Given the description of an element on the screen output the (x, y) to click on. 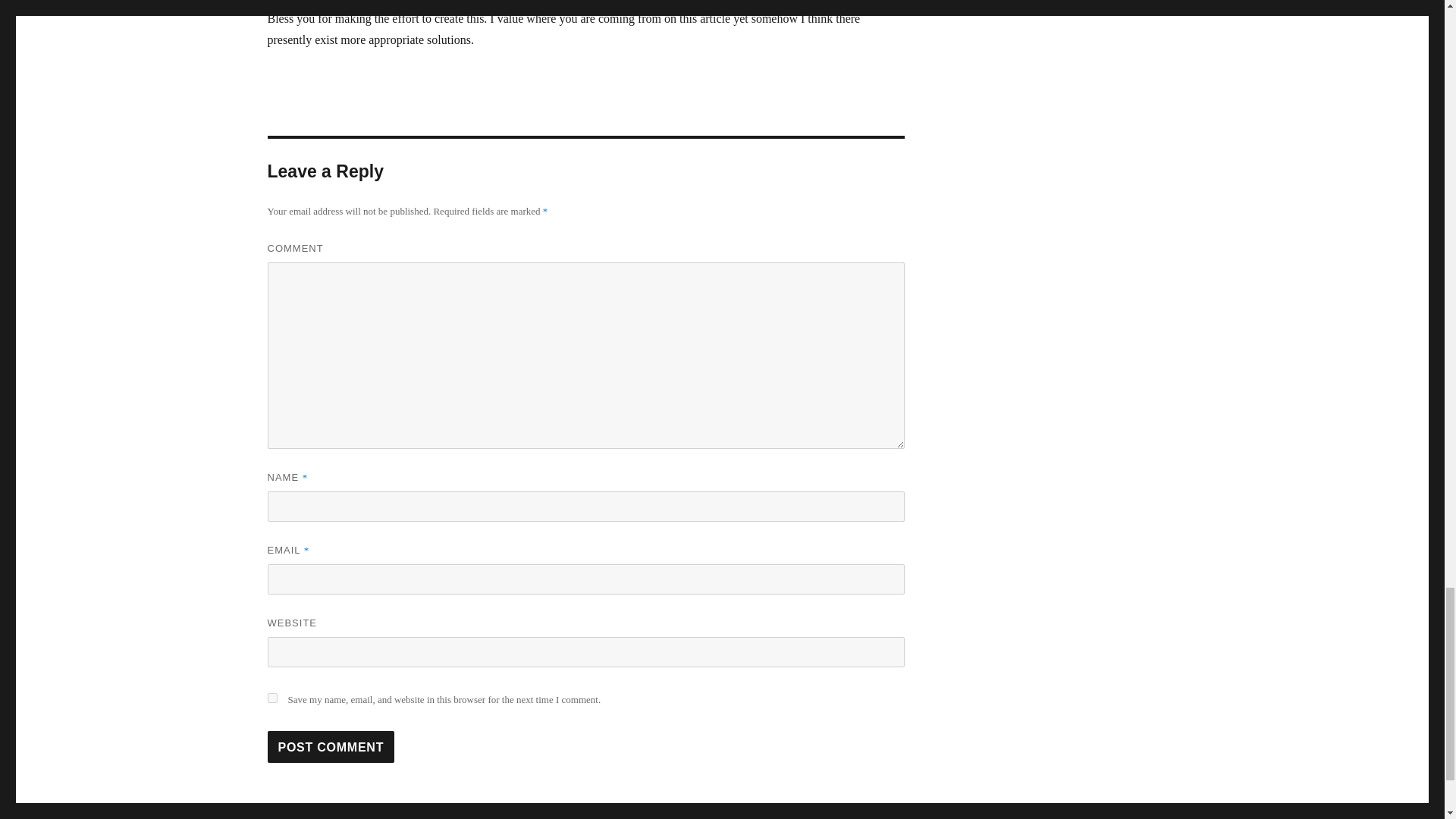
yes (271, 697)
Post Comment (330, 746)
Post Comment (330, 746)
